Given the description of an element on the screen output the (x, y) to click on. 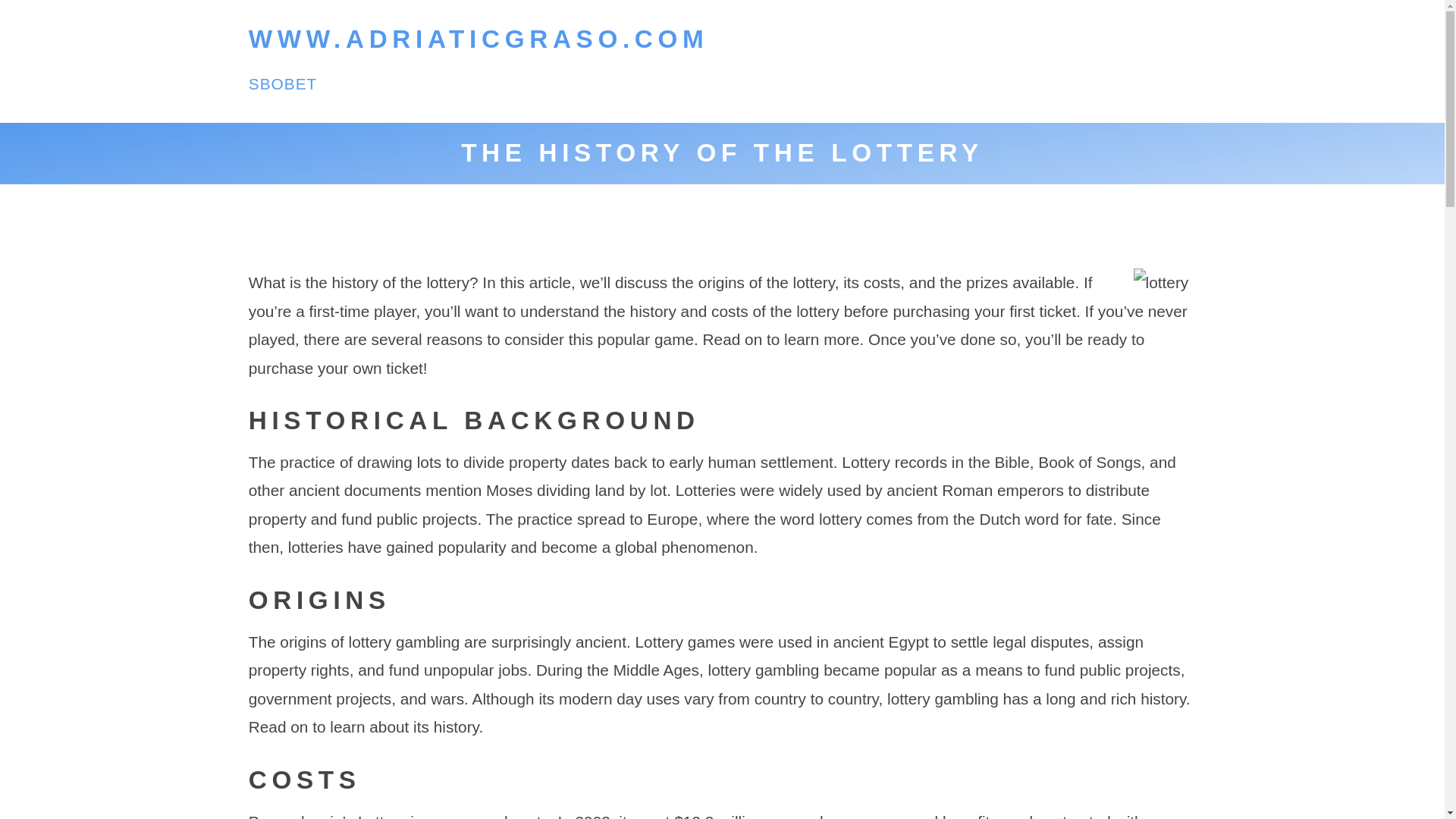
SBOBET (282, 83)
WWW.ADRIATICGRASO.COM (478, 39)
